Given the description of an element on the screen output the (x, y) to click on. 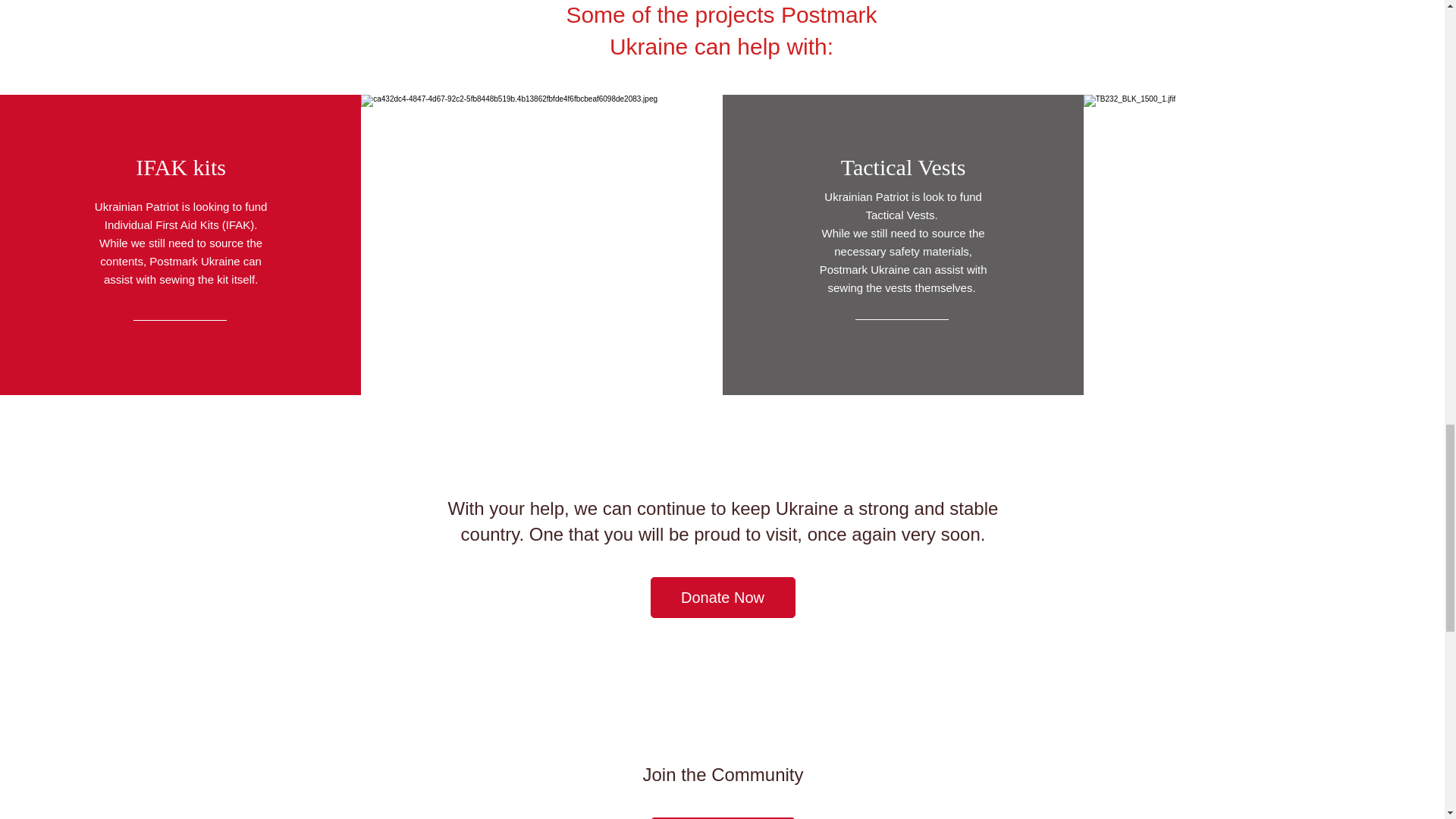
FUP (722, 818)
Donate Now (722, 597)
